Given the description of an element on the screen output the (x, y) to click on. 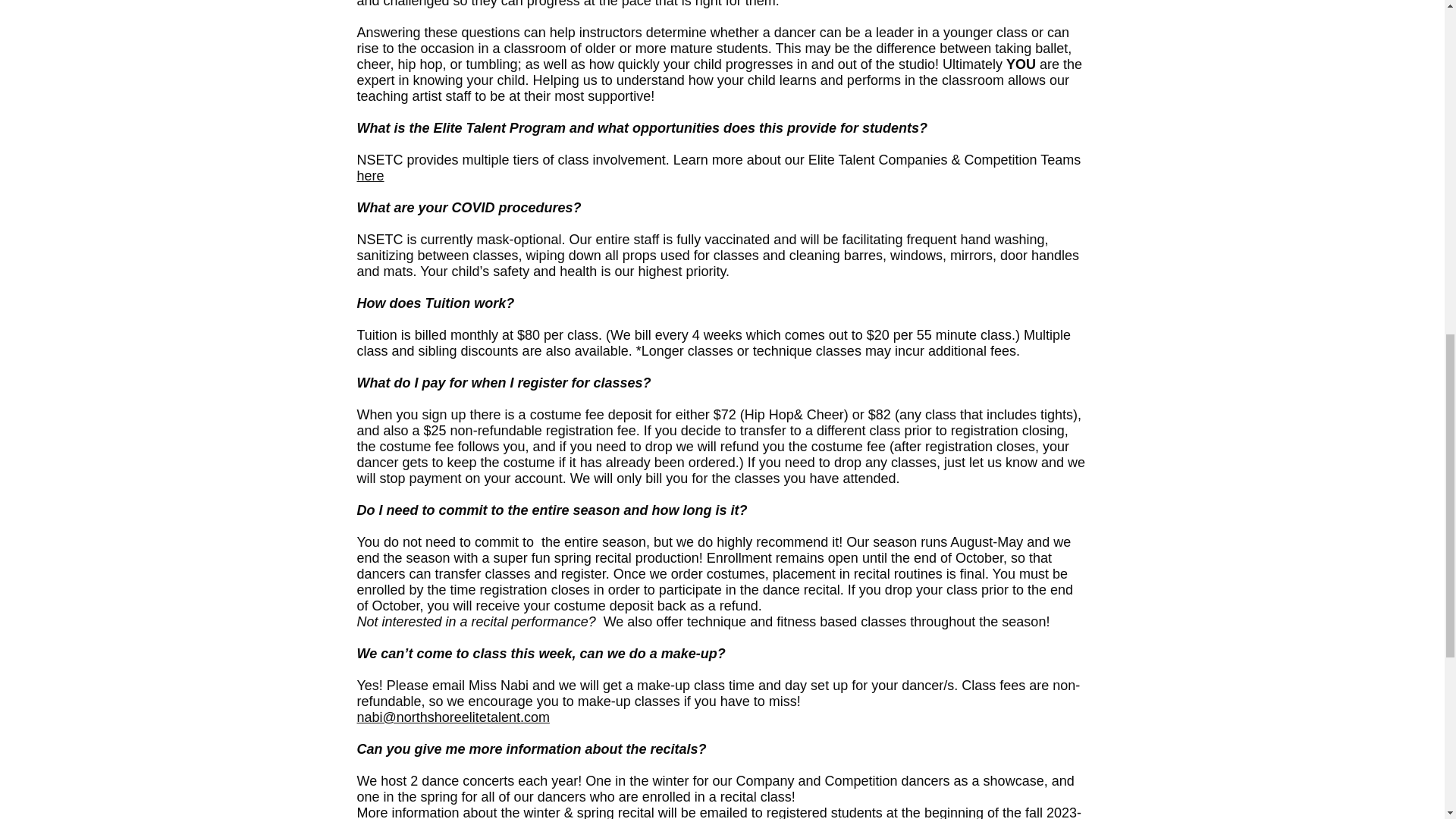
here (370, 175)
